Given the description of an element on the screen output the (x, y) to click on. 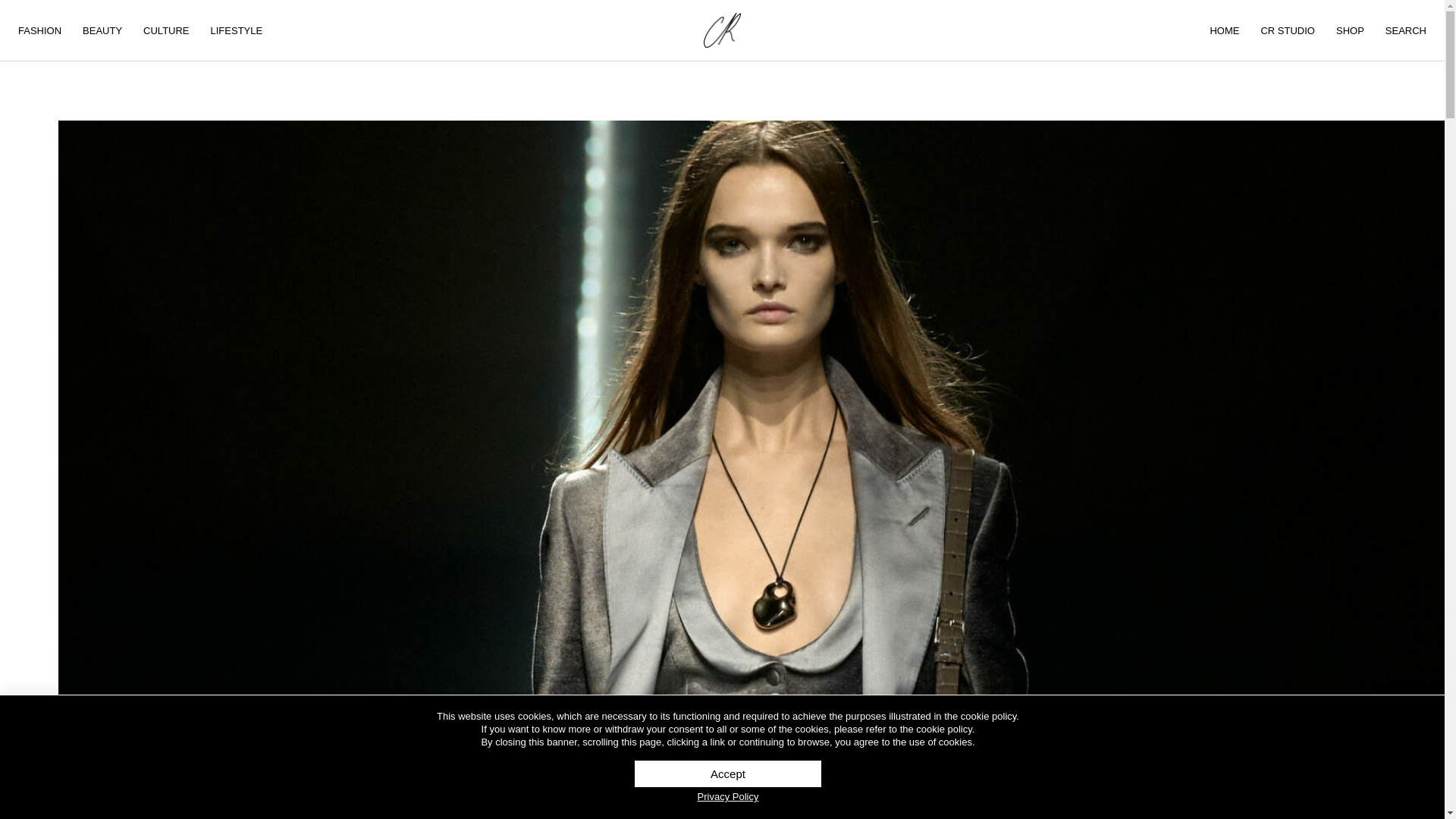
CR STUDIO (1286, 30)
FASHION (39, 30)
Privacy Policy (727, 796)
SHOP (1349, 30)
BEAUTY (101, 30)
Accept (727, 773)
CULTURE (165, 30)
SEARCH (1405, 30)
LIFESTYLE (236, 30)
HOME (1223, 30)
